Given the description of an element on the screen output the (x, y) to click on. 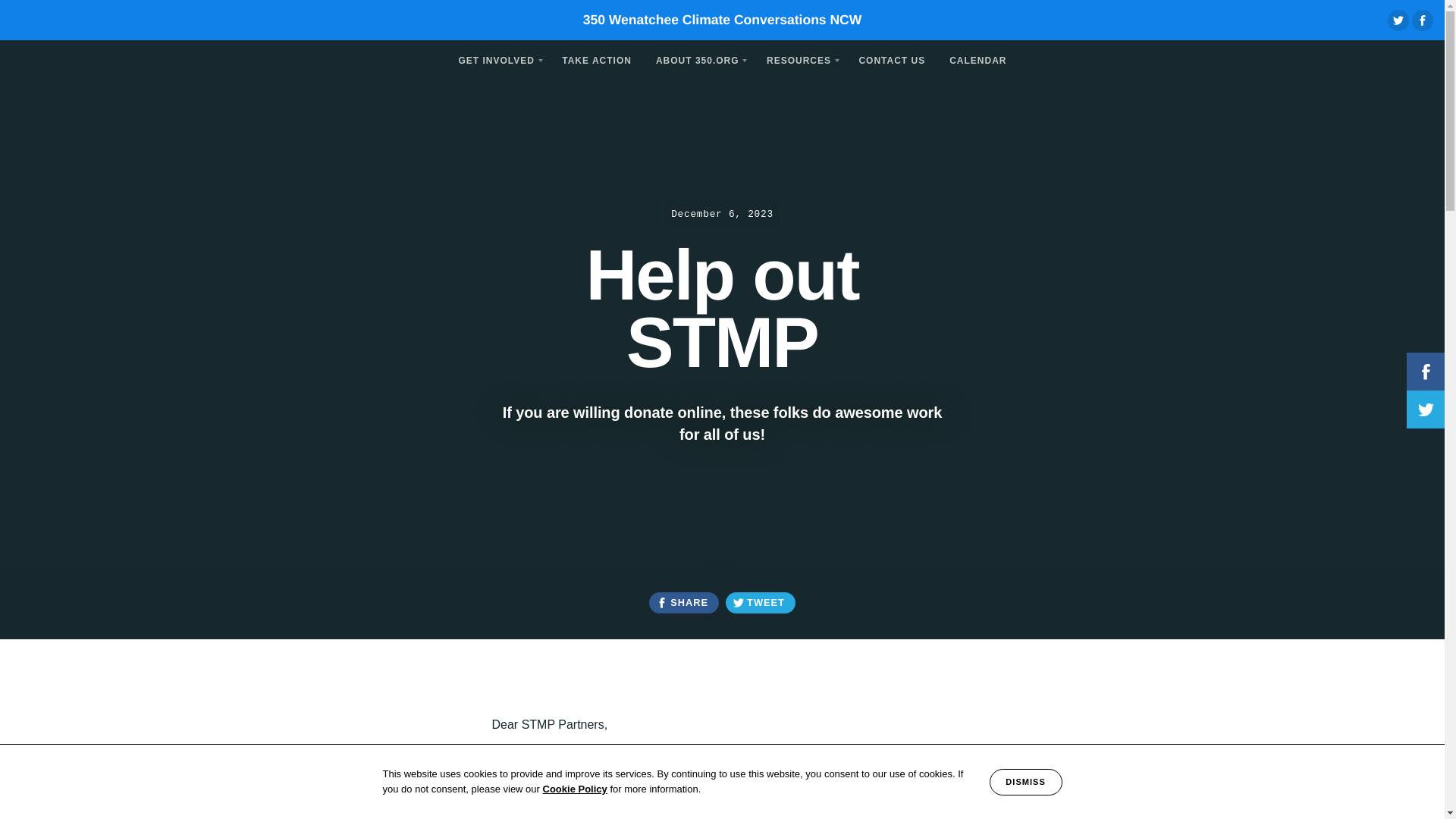
DISMISS (1026, 782)
CONTACT US (891, 60)
Twitter (1398, 20)
RESOURCES (799, 60)
CALENDAR (977, 60)
SHARE (683, 602)
TWEET (759, 602)
350 Wenatchee Climate Conversations NCW (722, 20)
Cookie Policy (575, 788)
ABOUT 350.ORG (698, 60)
